Given the description of an element on the screen output the (x, y) to click on. 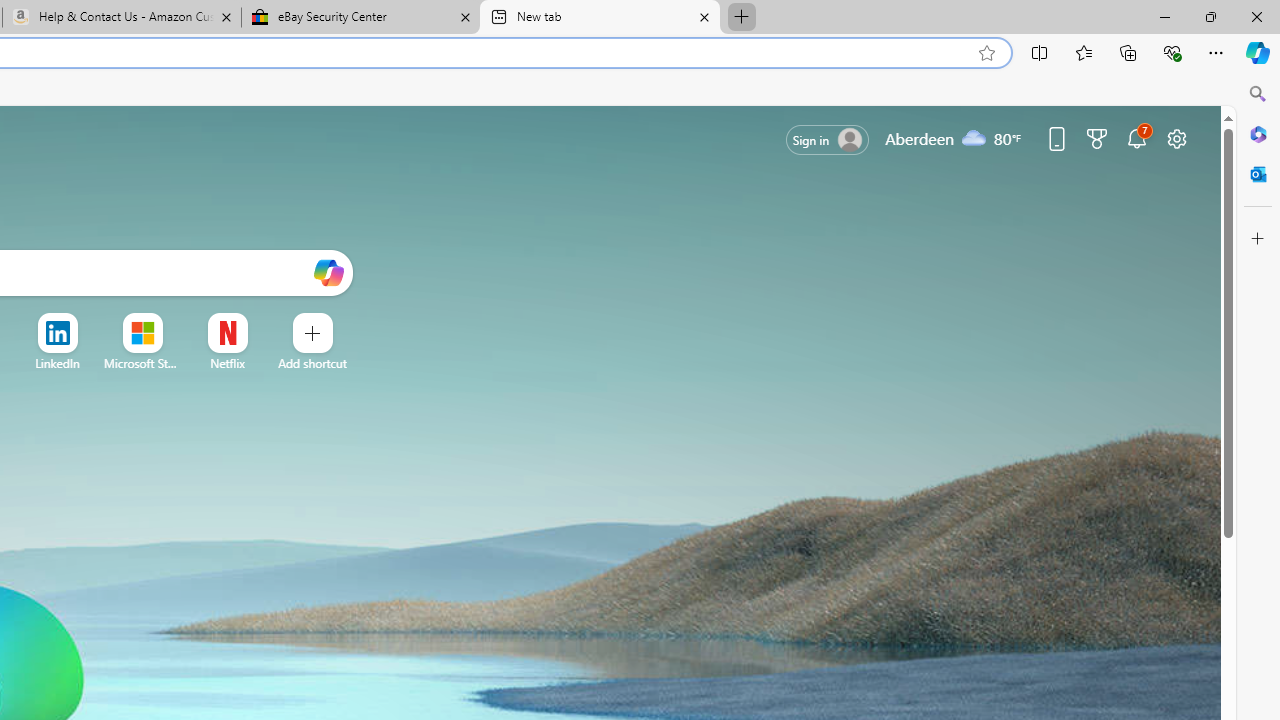
eBay Security Center (360, 17)
Page settings (1176, 138)
LinkedIn (56, 363)
